Given the description of an element on the screen output the (x, y) to click on. 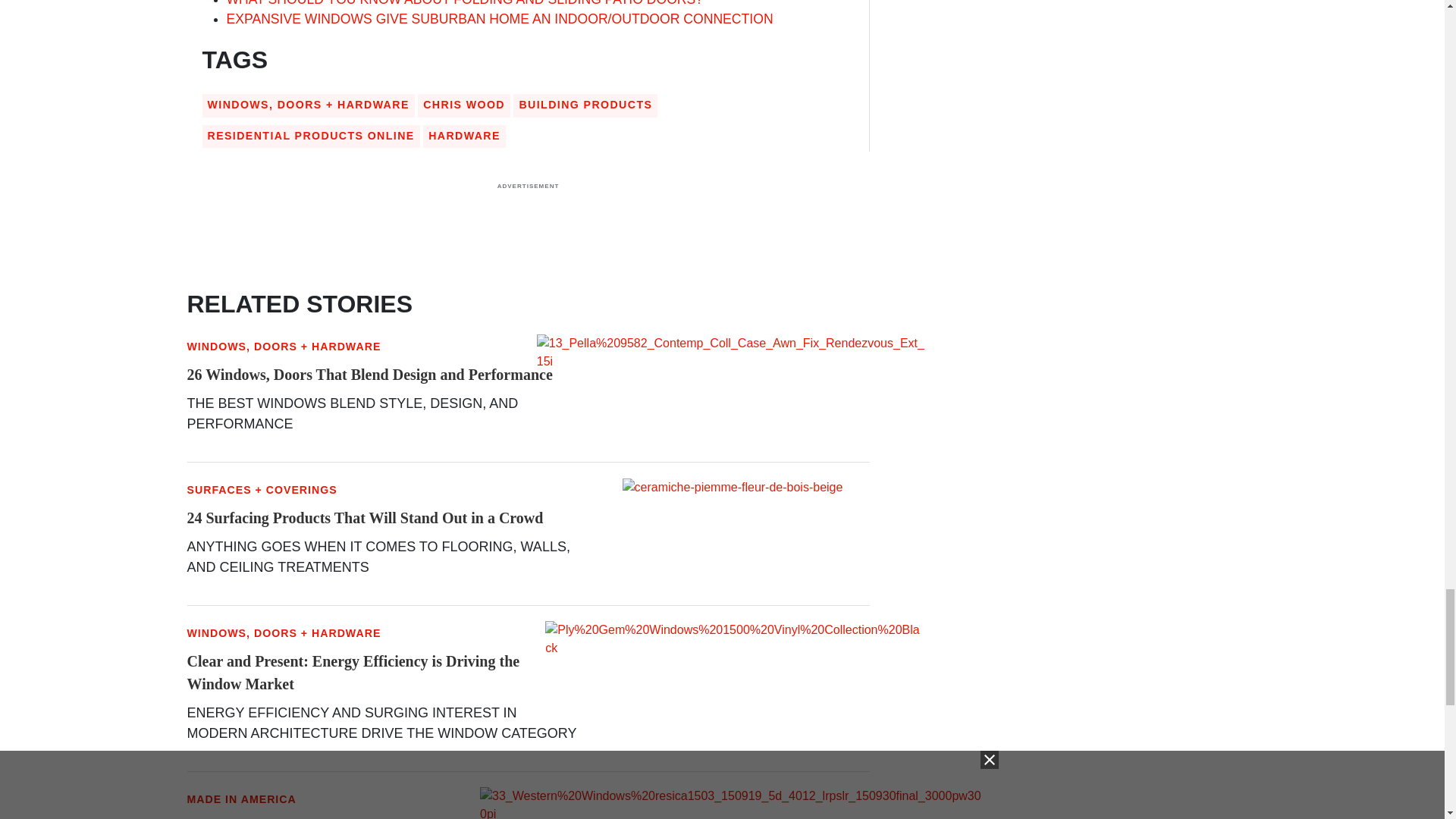
true (527, 232)
